Given the description of an element on the screen output the (x, y) to click on. 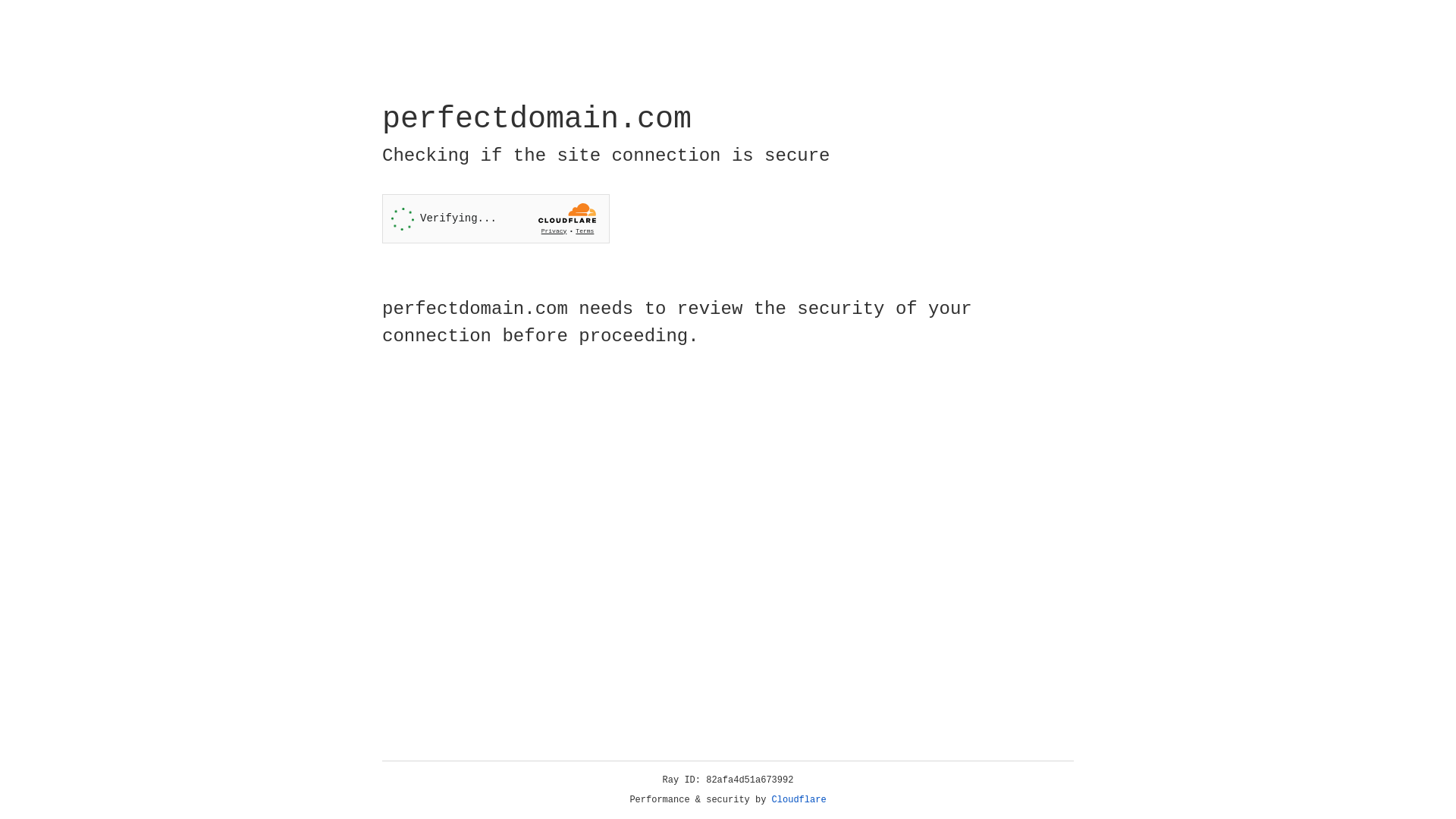
Widget containing a Cloudflare security challenge Element type: hover (495, 218)
Cloudflare Element type: text (798, 799)
